Given the description of an element on the screen output the (x, y) to click on. 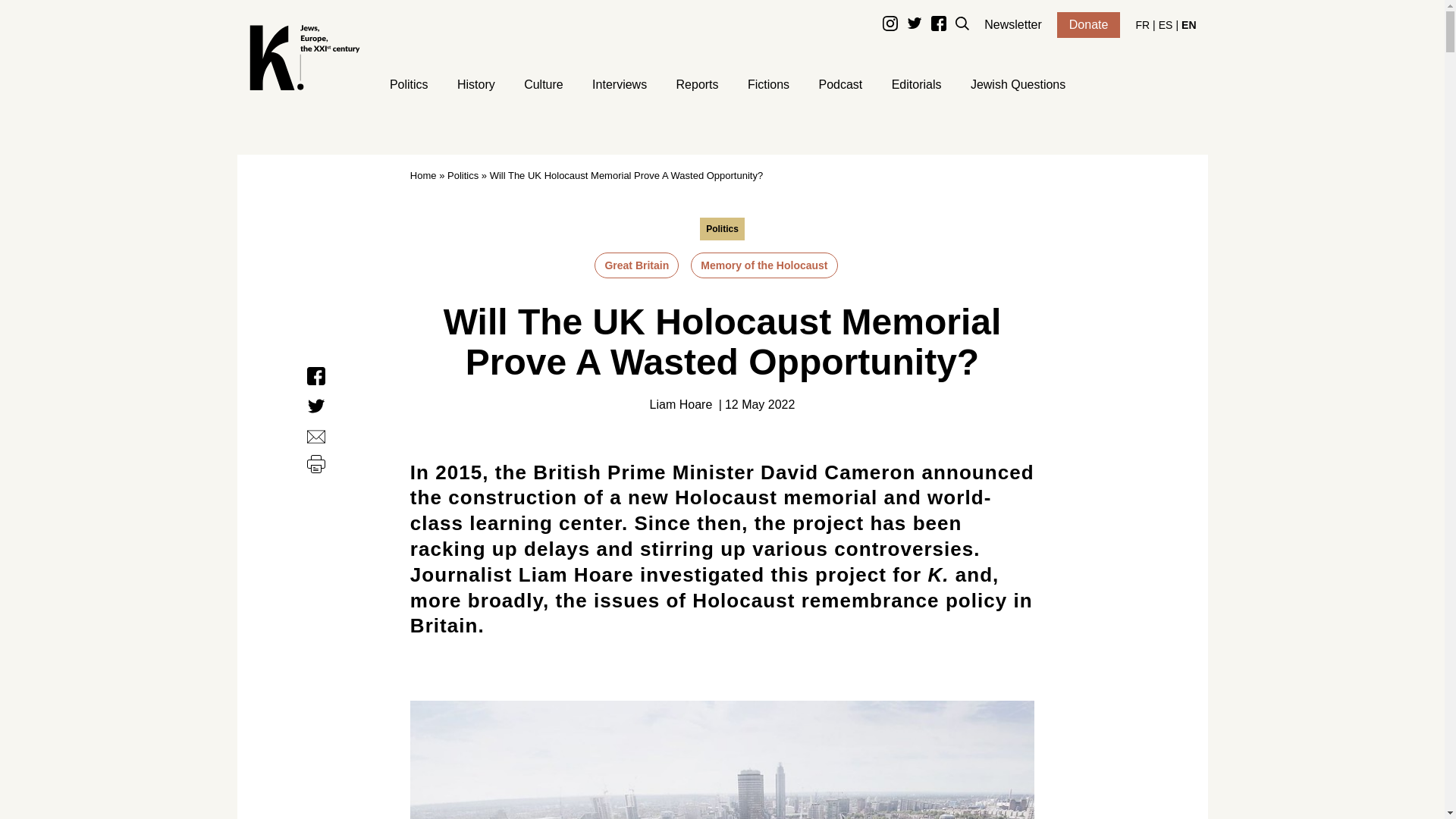
Interviews (619, 86)
Partager par email (314, 436)
instagram (890, 26)
Great Britain (636, 265)
FR (1142, 24)
Reports (698, 86)
Politics (722, 228)
Jews, Europe, the XXIst century (304, 86)
Fictions (768, 86)
Jewish Questions (1018, 86)
Politics (462, 175)
Newsletter (1013, 24)
Liam Hoare (681, 405)
Home (423, 175)
facebook (938, 26)
